Given the description of an element on the screen output the (x, y) to click on. 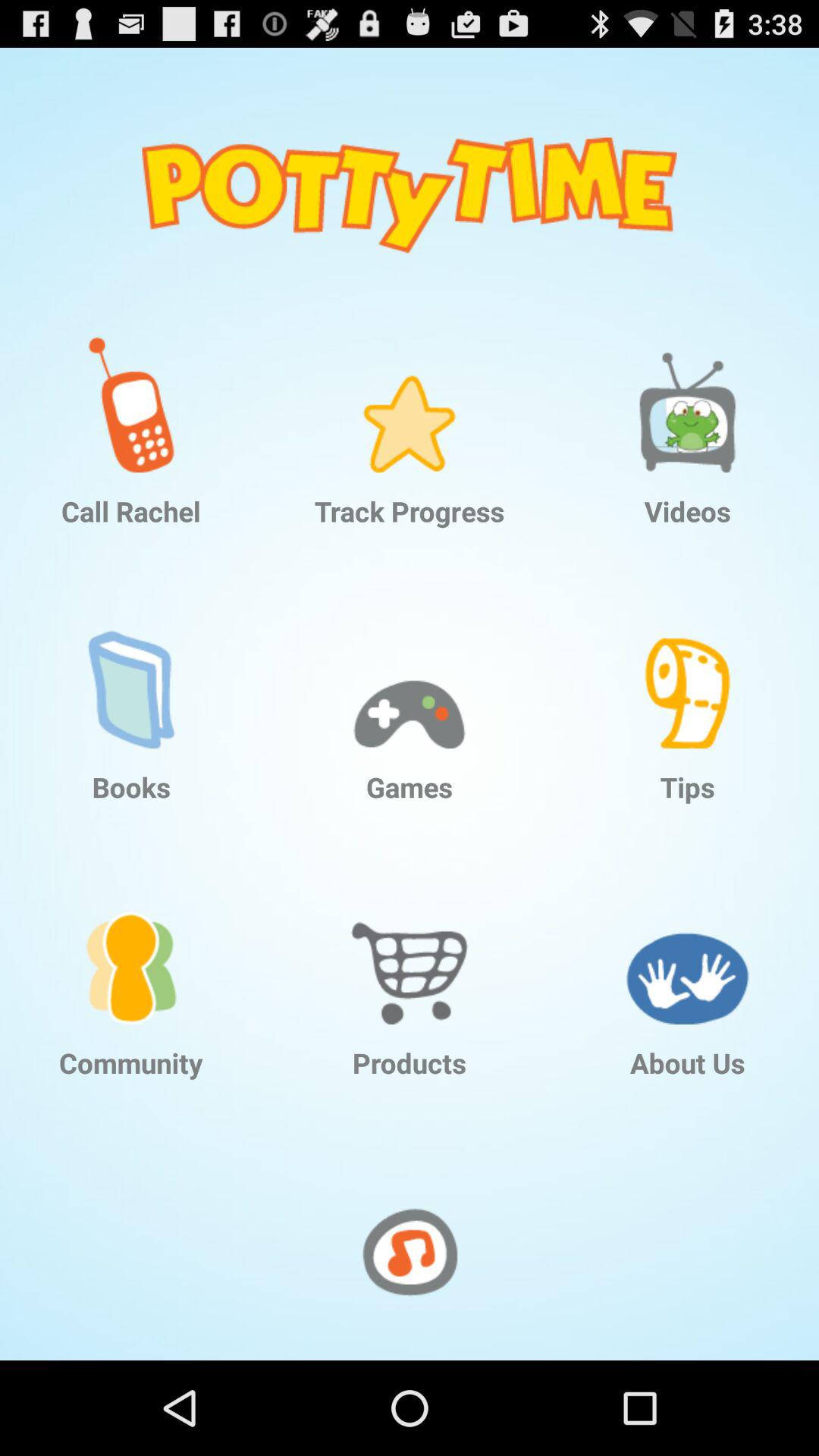
open the item above the about us (687, 944)
